Given the description of an element on the screen output the (x, y) to click on. 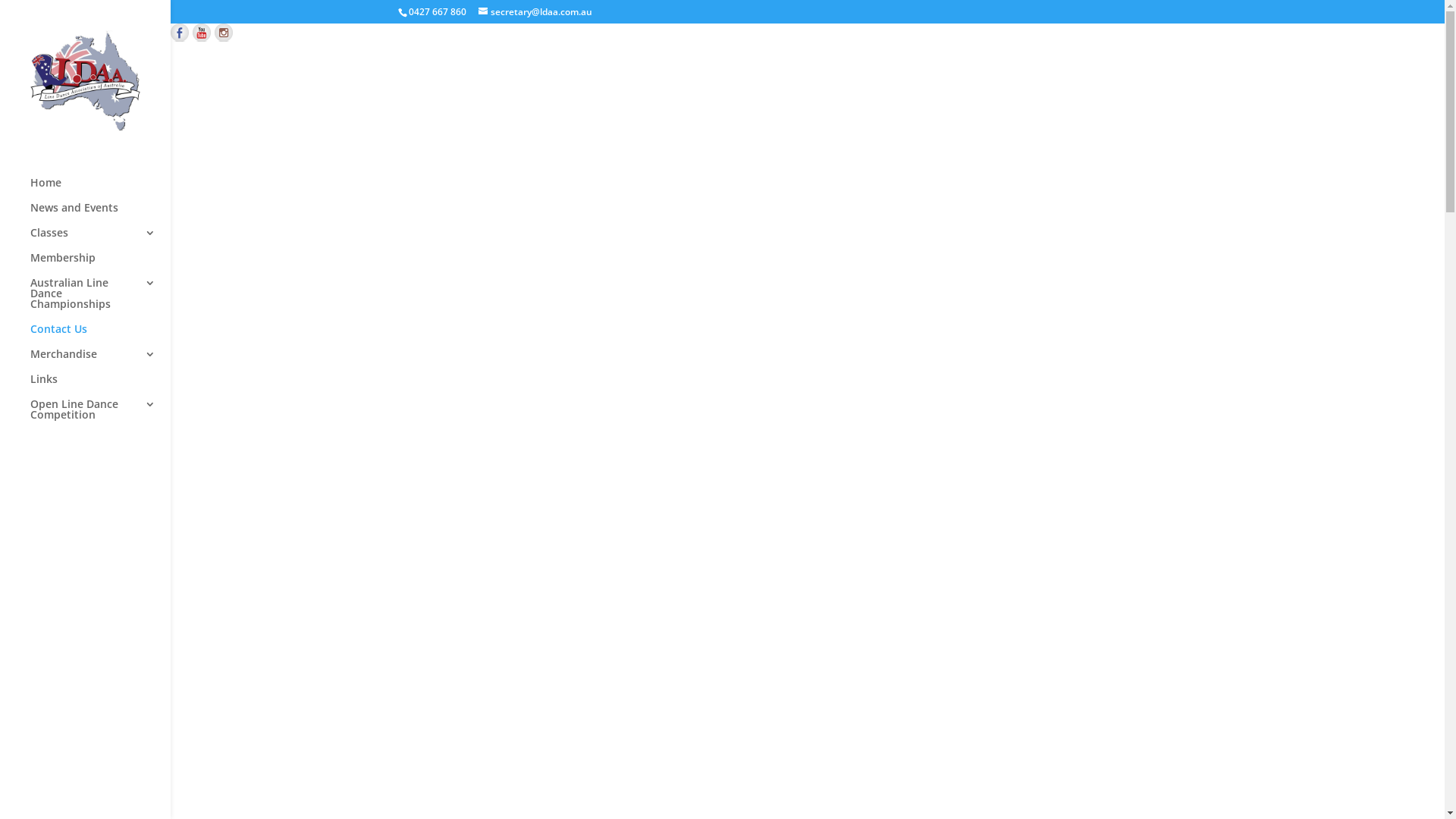
Check out our instagram feed Element type: hover (223, 32)
News and Events Element type: text (100, 214)
Contact Us Element type: text (100, 335)
Membership Element type: text (100, 264)
Follow us on Facebook Element type: hover (179, 32)
Find us on YouTube Element type: hover (201, 32)
Open Line Dance Competition Element type: text (100, 416)
Classes Element type: text (100, 239)
Australian Line Dance Championships Element type: text (100, 300)
Merchandise Element type: text (100, 360)
Links Element type: text (100, 385)
secretary@ldaa.com.au Element type: text (535, 11)
Home Element type: text (100, 189)
